Given the description of an element on the screen output the (x, y) to click on. 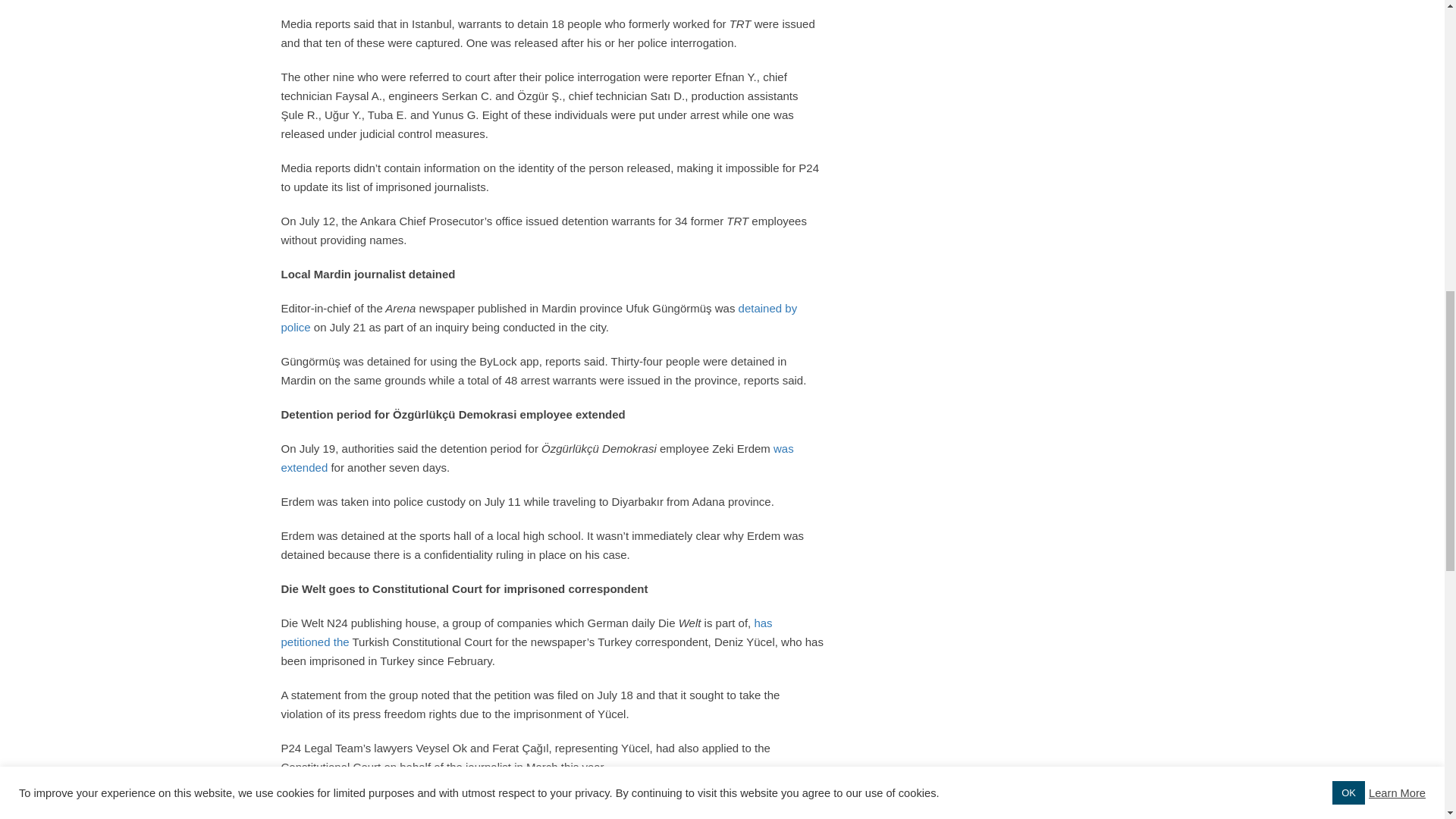
was extended (537, 458)
has petitioned the (526, 632)
detained by police (538, 317)
